Given the description of an element on the screen output the (x, y) to click on. 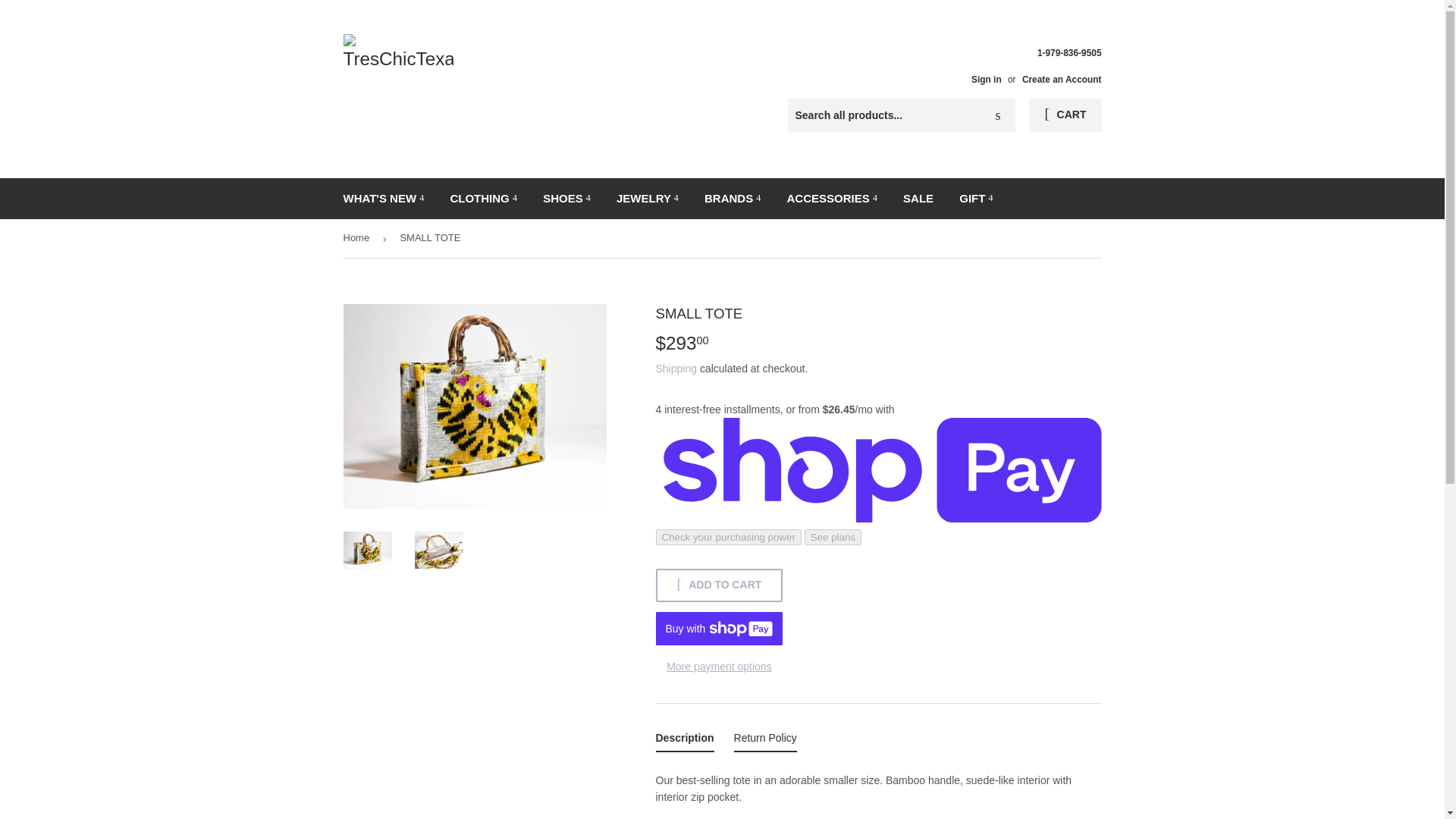
CART (1064, 114)
Search (997, 115)
1-979-836-9505 (1029, 64)
Sign in (986, 79)
Create an Account (1062, 79)
